Given the description of an element on the screen output the (x, y) to click on. 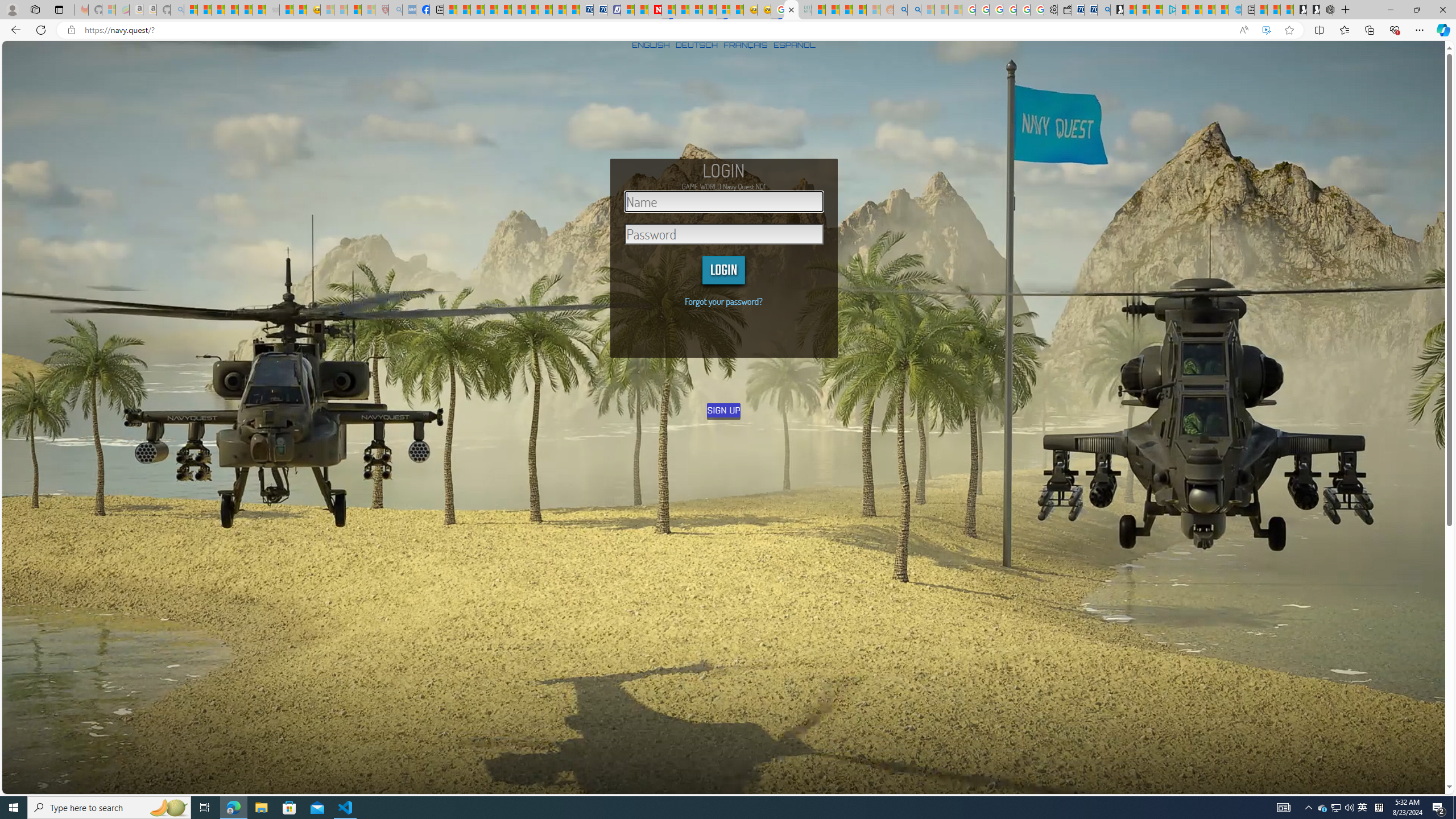
Student Loan Update: Forgiveness Program Ends This Month (858, 9)
Bing Real Estate - Home sales and rental listings (1103, 9)
Enhance video (1266, 29)
Password (724, 233)
Utah sues federal government - Search (914, 9)
